Given the description of an element on the screen output the (x, y) to click on. 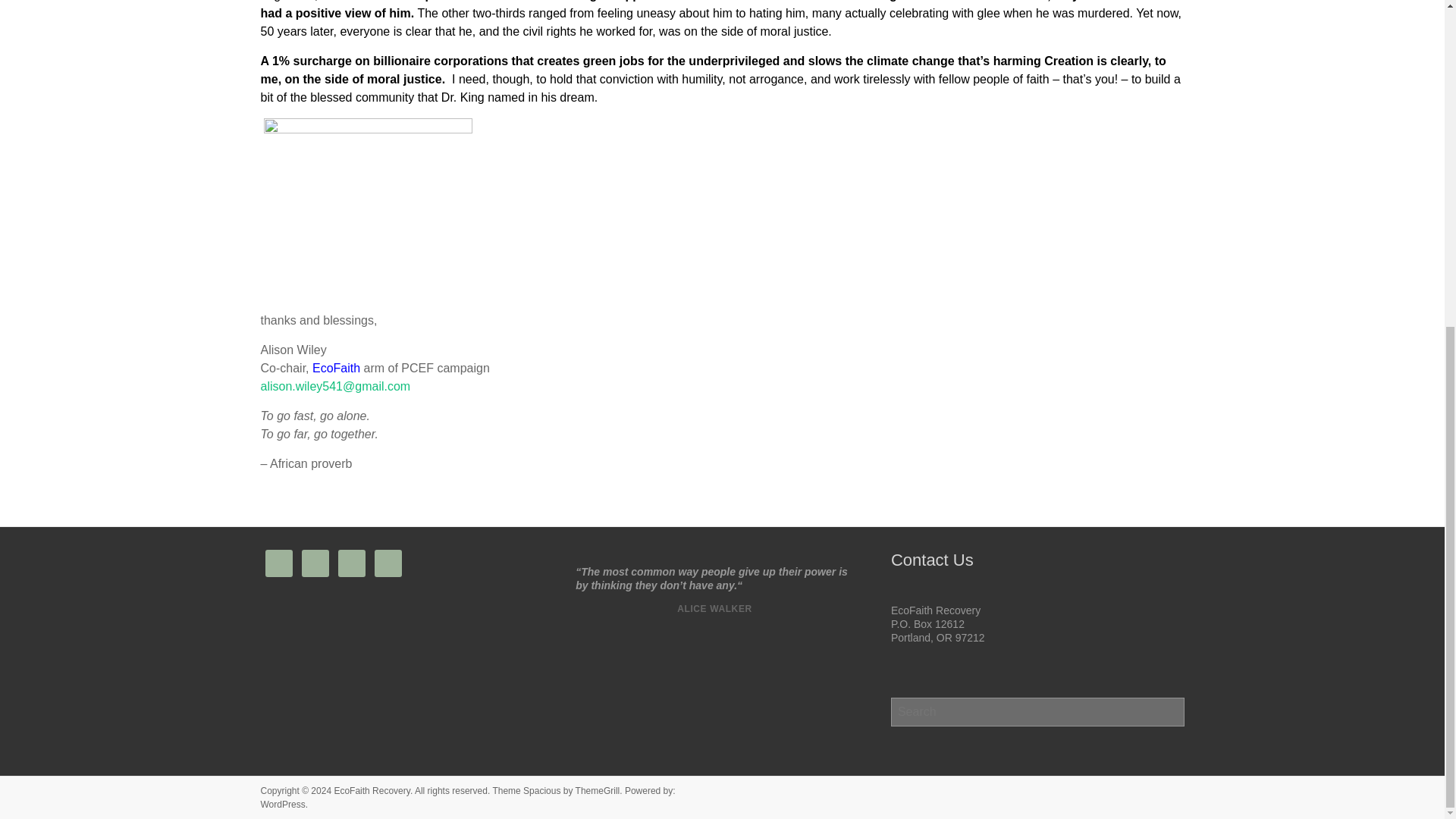
WordPress (282, 804)
Spacious (541, 790)
EcoFaith Recovery (371, 790)
EcoFaith (336, 367)
